Given the description of an element on the screen output the (x, y) to click on. 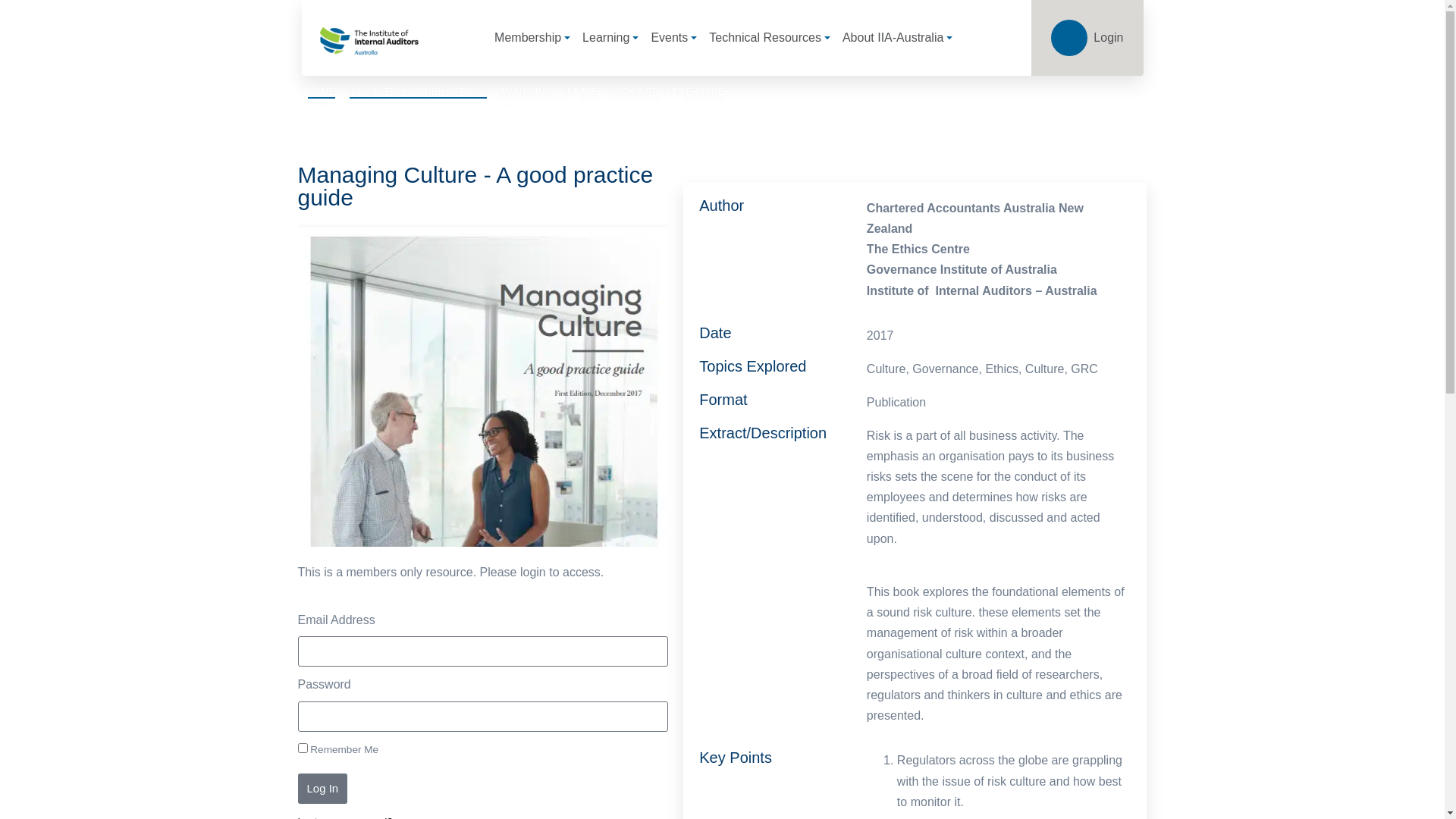
Learning Element type: text (610, 37)
Membership Element type: text (532, 37)
Events Element type: text (673, 37)
IIA-AUSTRALIA PUBLICATIONS Element type: text (417, 92)
Technical Resources Element type: text (769, 37)
HOME Element type: text (321, 92)
Login Element type: text (1086, 37)
Log In Element type: text (322, 788)
About IIA-Australia Element type: text (897, 37)
